Given the description of an element on the screen output the (x, y) to click on. 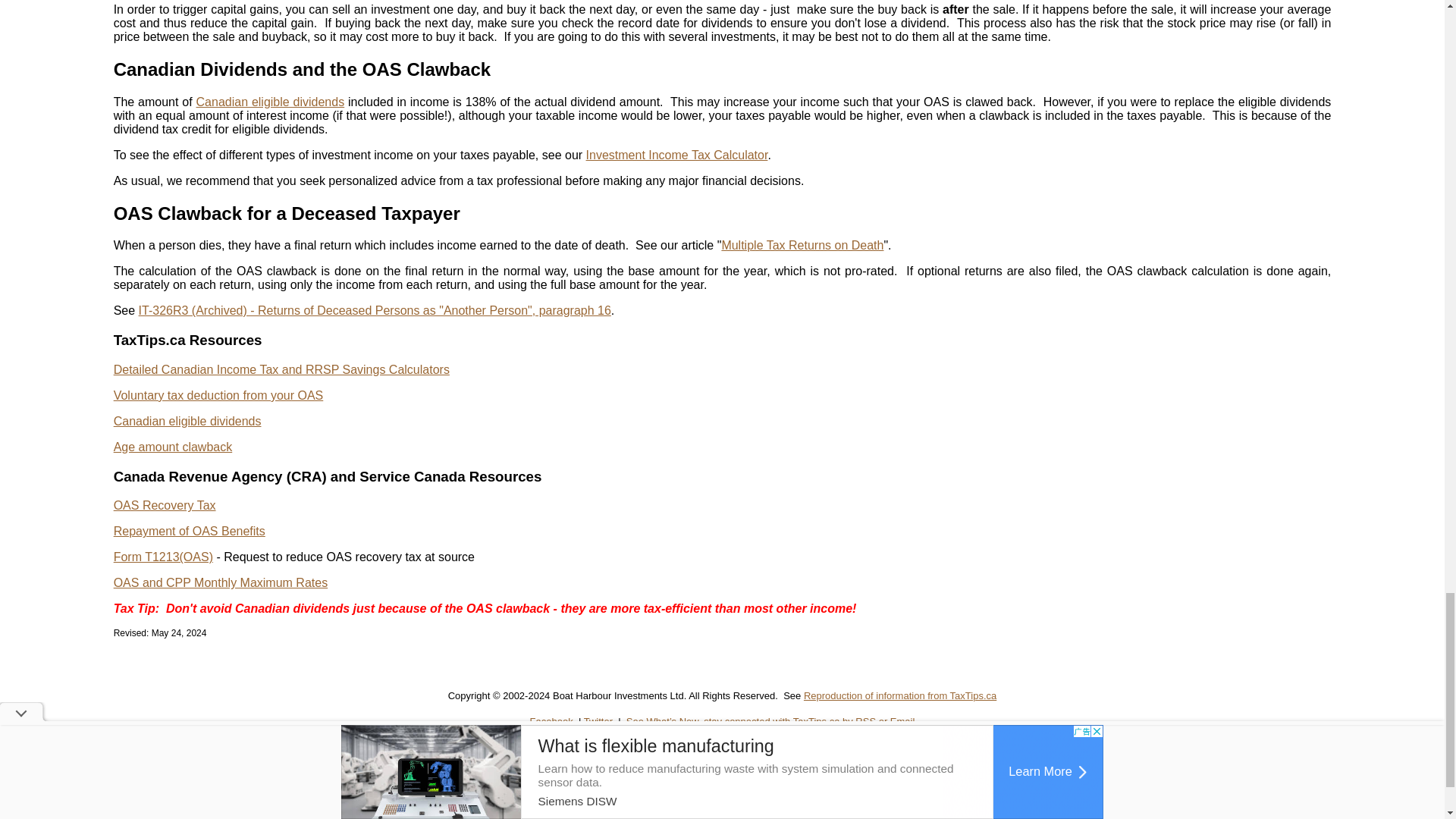
Canadian eligible dividends (270, 101)
Voluntary tax deduction from your OAS (218, 395)
Investment Income Tax Calculator (677, 154)
Canadian eligible dividends (187, 420)
Age amount clawback (172, 446)
Detailed Canadian Income Tax and RRSP Savings Calculators (281, 369)
Multiple Tax Returns on Death (801, 245)
